Given the description of an element on the screen output the (x, y) to click on. 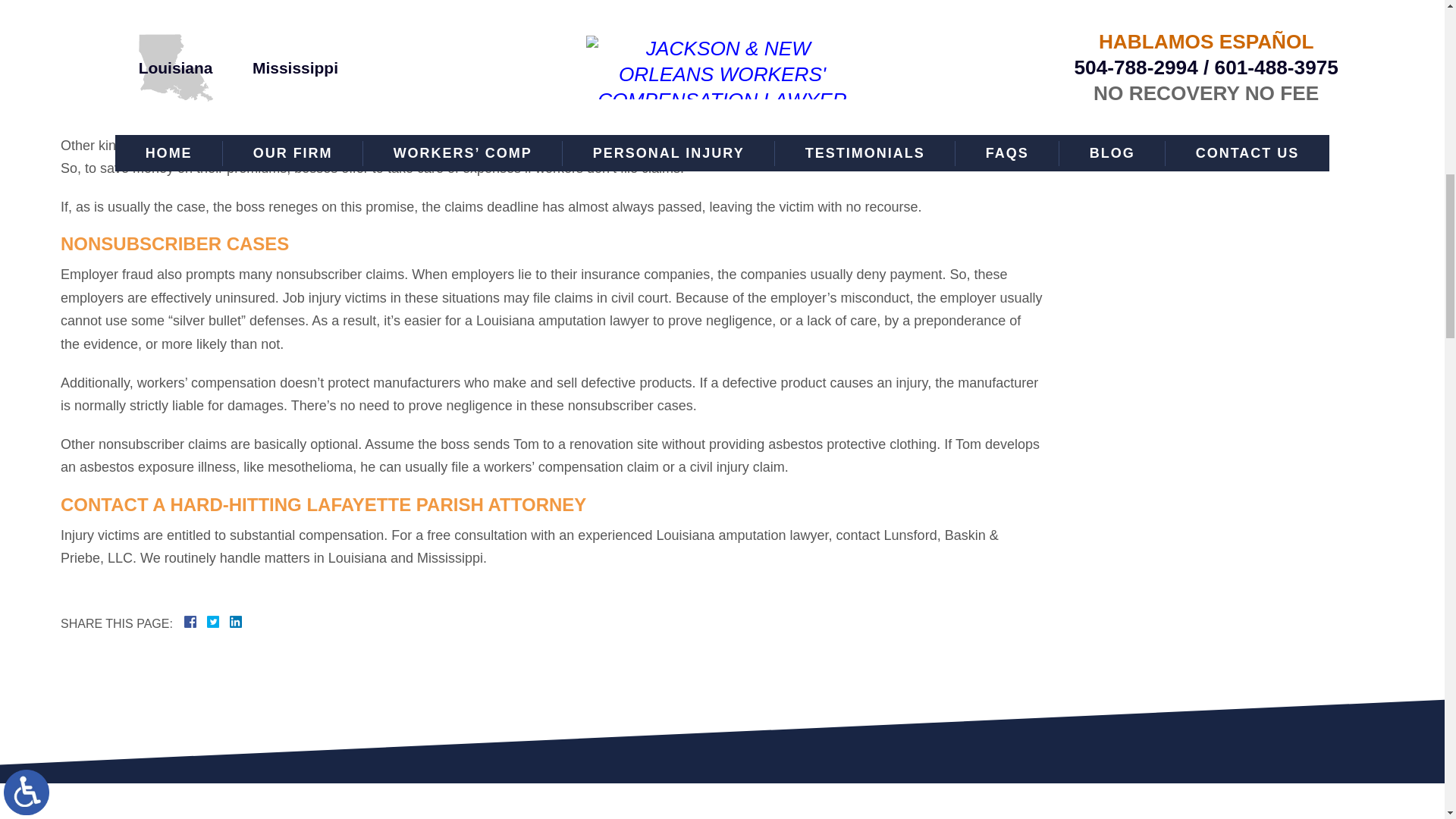
LinkedIn (229, 621)
Twitter (219, 621)
Facebook (208, 621)
